Given the description of an element on the screen output the (x, y) to click on. 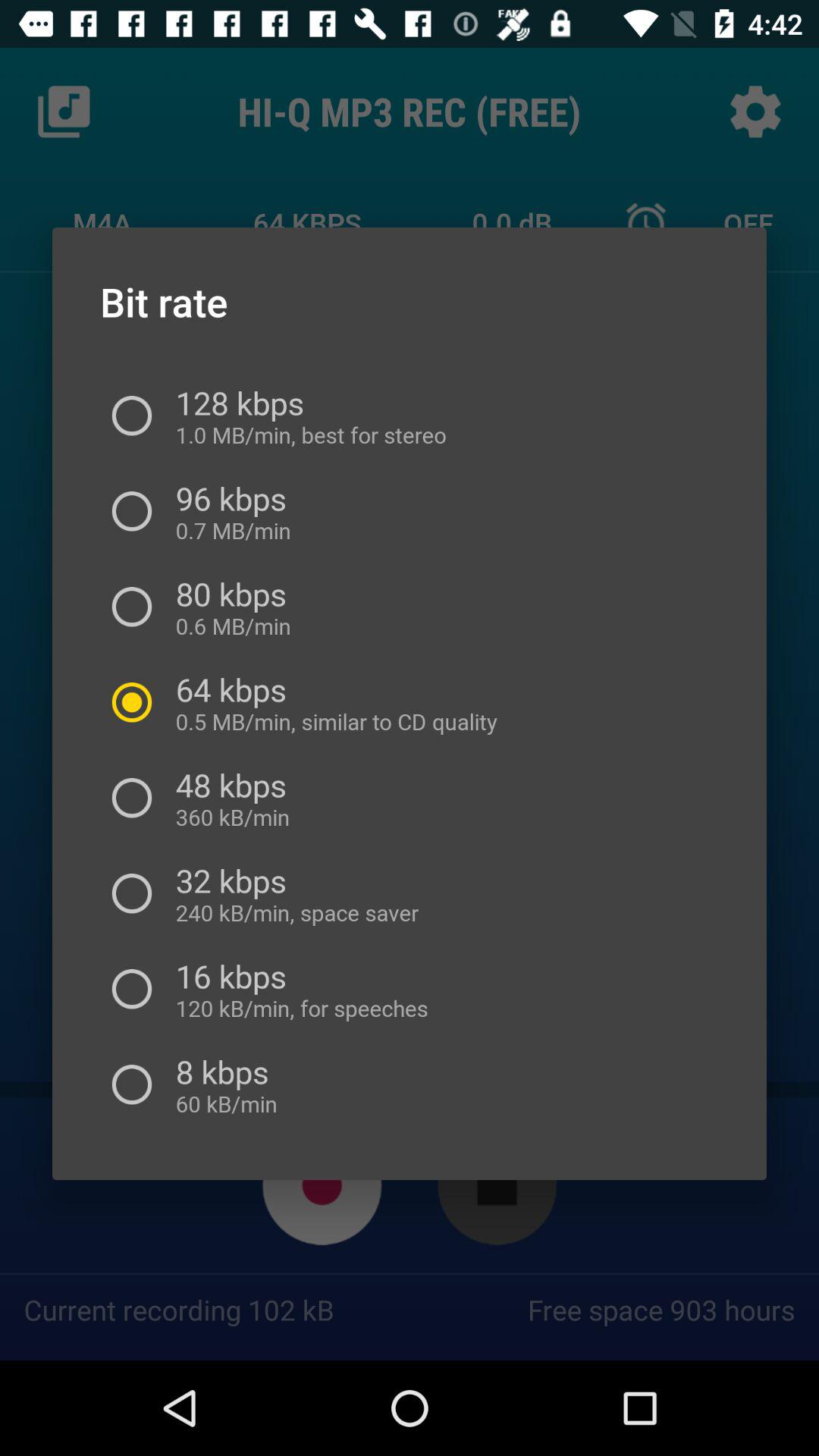
click 32 kbps 240 icon (290, 893)
